Given the description of an element on the screen output the (x, y) to click on. 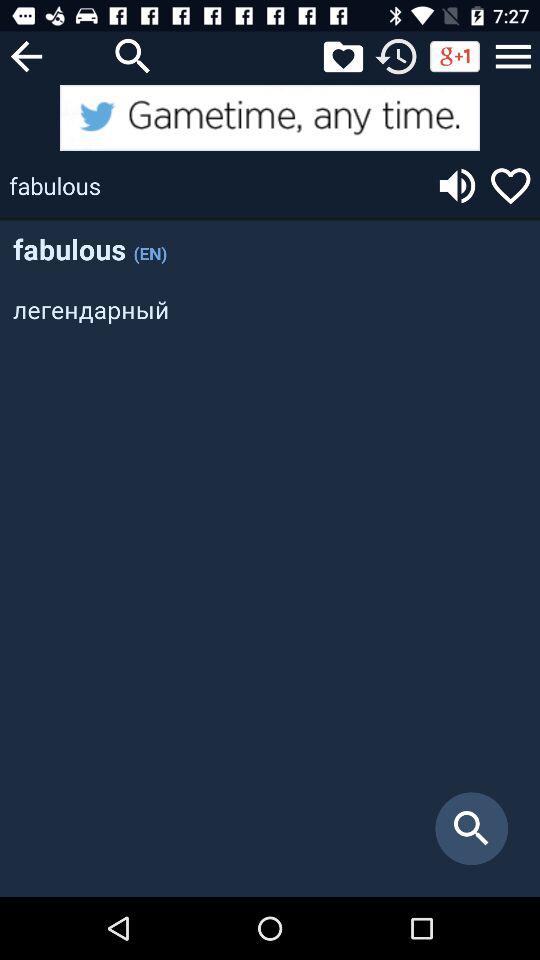
open volume (457, 185)
